Given the description of an element on the screen output the (x, y) to click on. 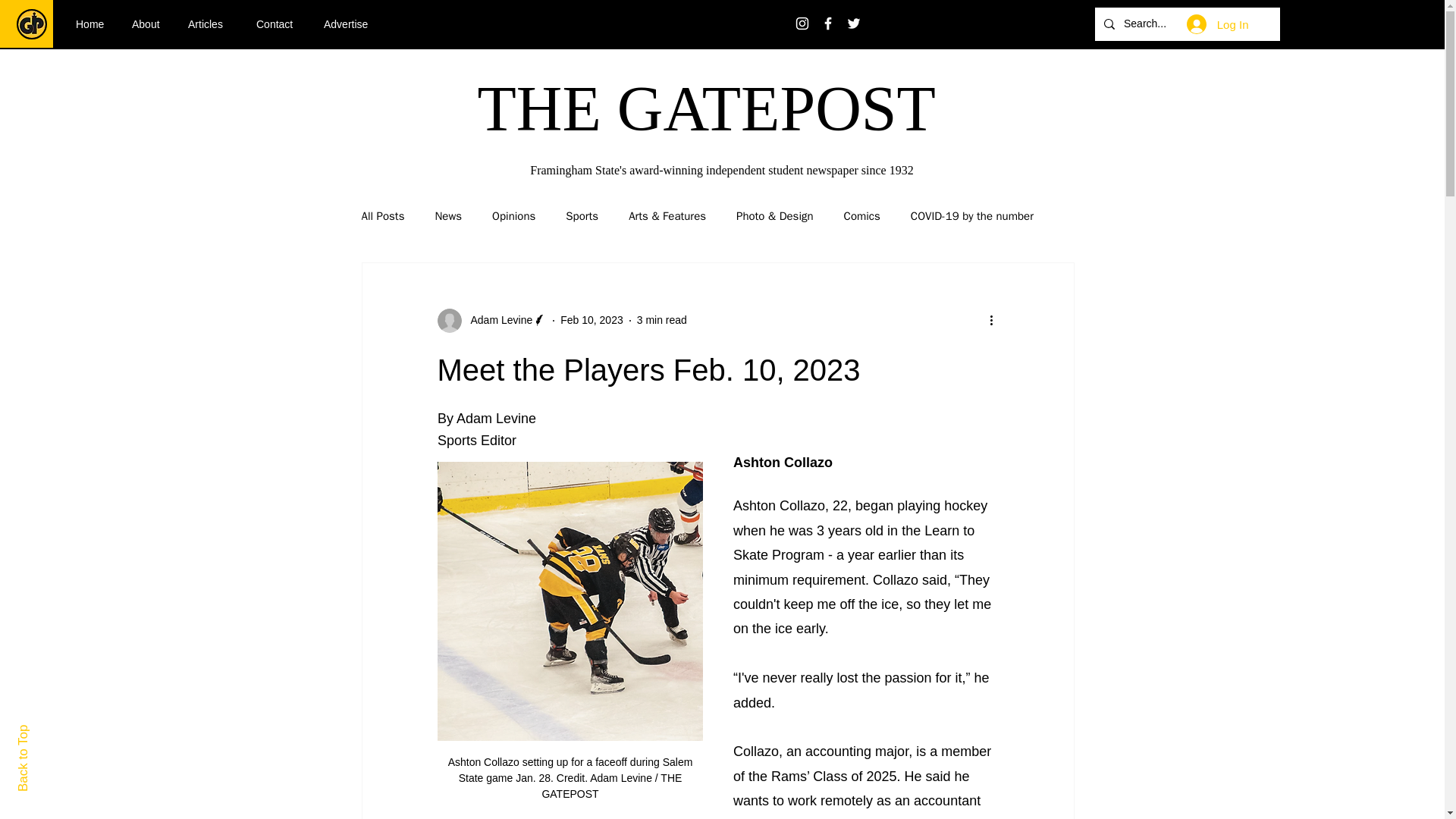
Advertise (351, 24)
3 min read (662, 319)
Opinions (513, 216)
Articles (210, 24)
News (447, 216)
COVID-19 by the number (972, 216)
Sports (582, 216)
Home (92, 24)
About (148, 24)
All Posts (382, 216)
Contact (278, 24)
Feb 10, 2023 (591, 319)
Adam Levine (496, 320)
Comics (862, 216)
Back to Top (49, 730)
